Given the description of an element on the screen output the (x, y) to click on. 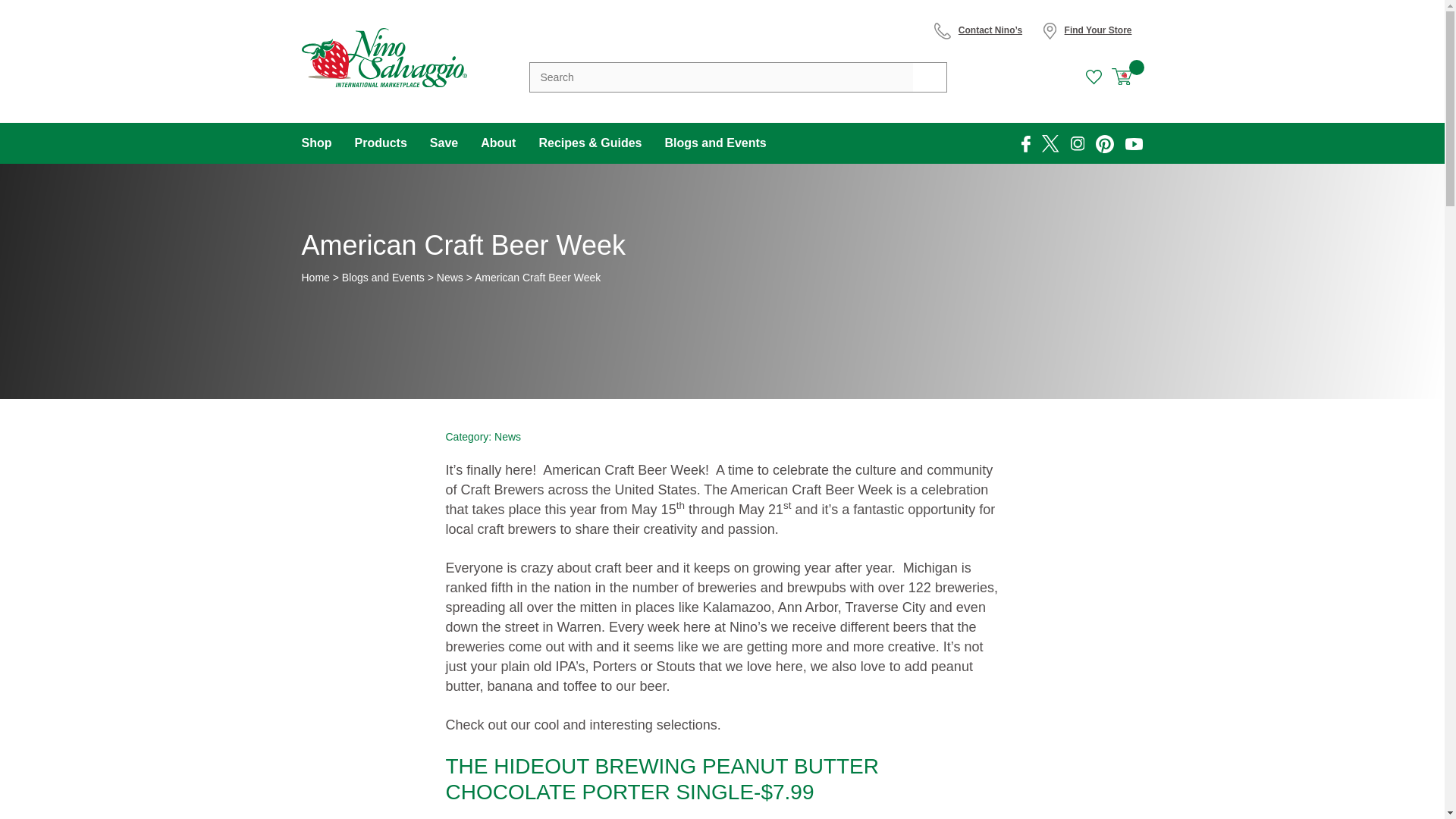
Search (929, 77)
Shop (322, 142)
Search (929, 77)
Search (929, 77)
